Given the description of an element on the screen output the (x, y) to click on. 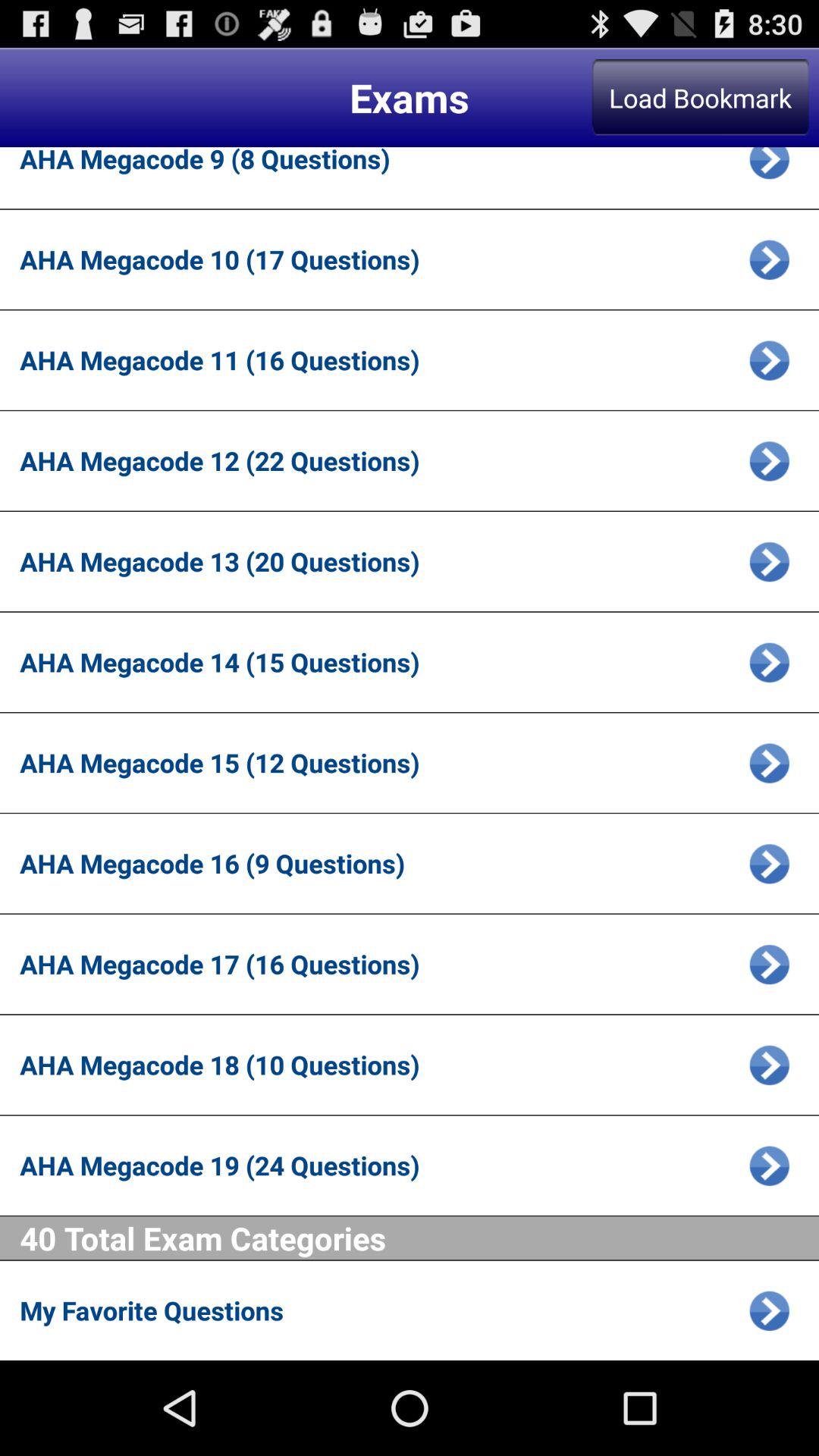
select exam (769, 360)
